Given the description of an element on the screen output the (x, y) to click on. 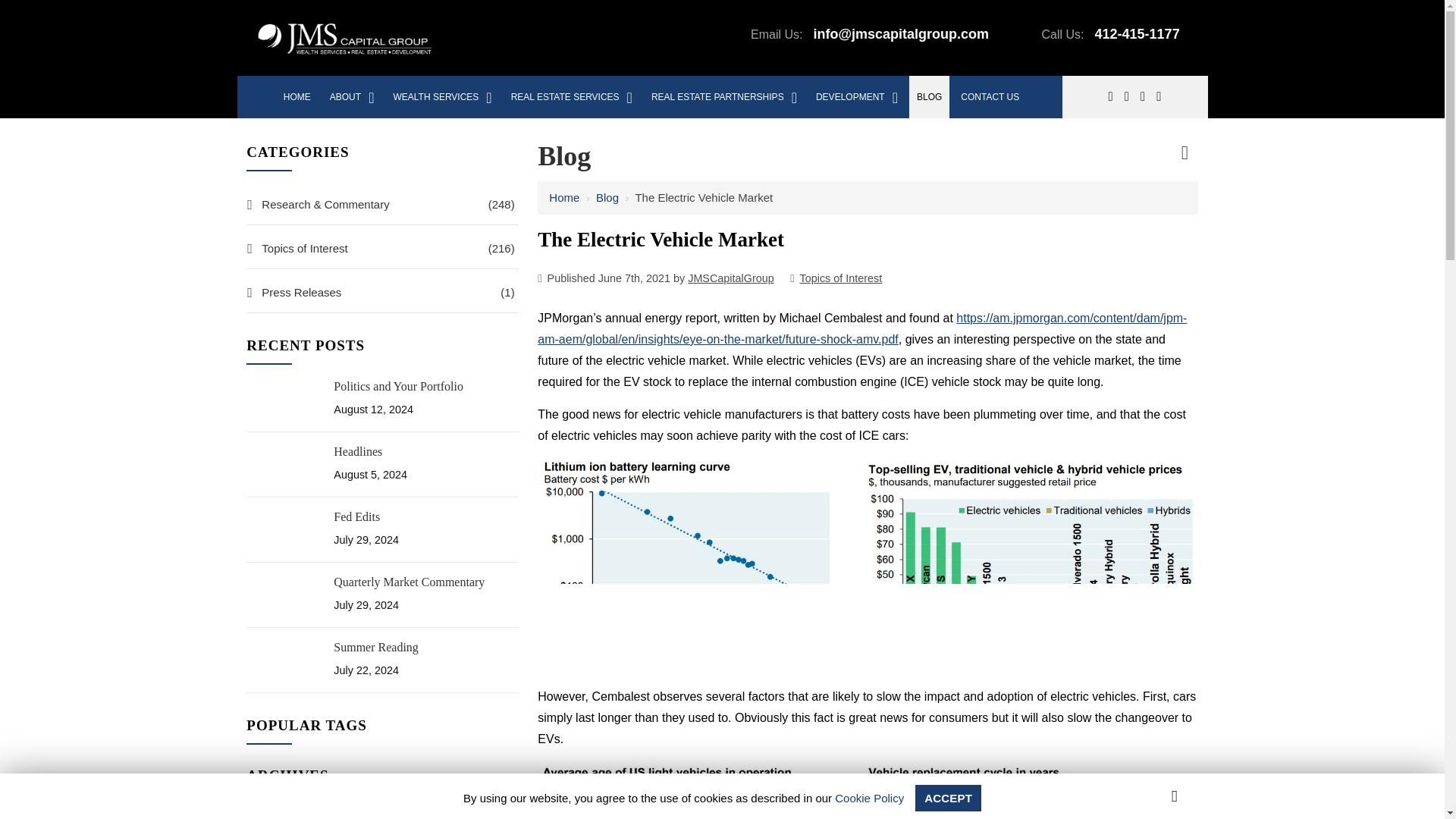
REAL ESTATE SERVICES (571, 96)
WEALTH SERVICES (442, 96)
HOME (297, 96)
ABOUT (351, 96)
412-415-1177 (1136, 33)
